Given the description of an element on the screen output the (x, y) to click on. 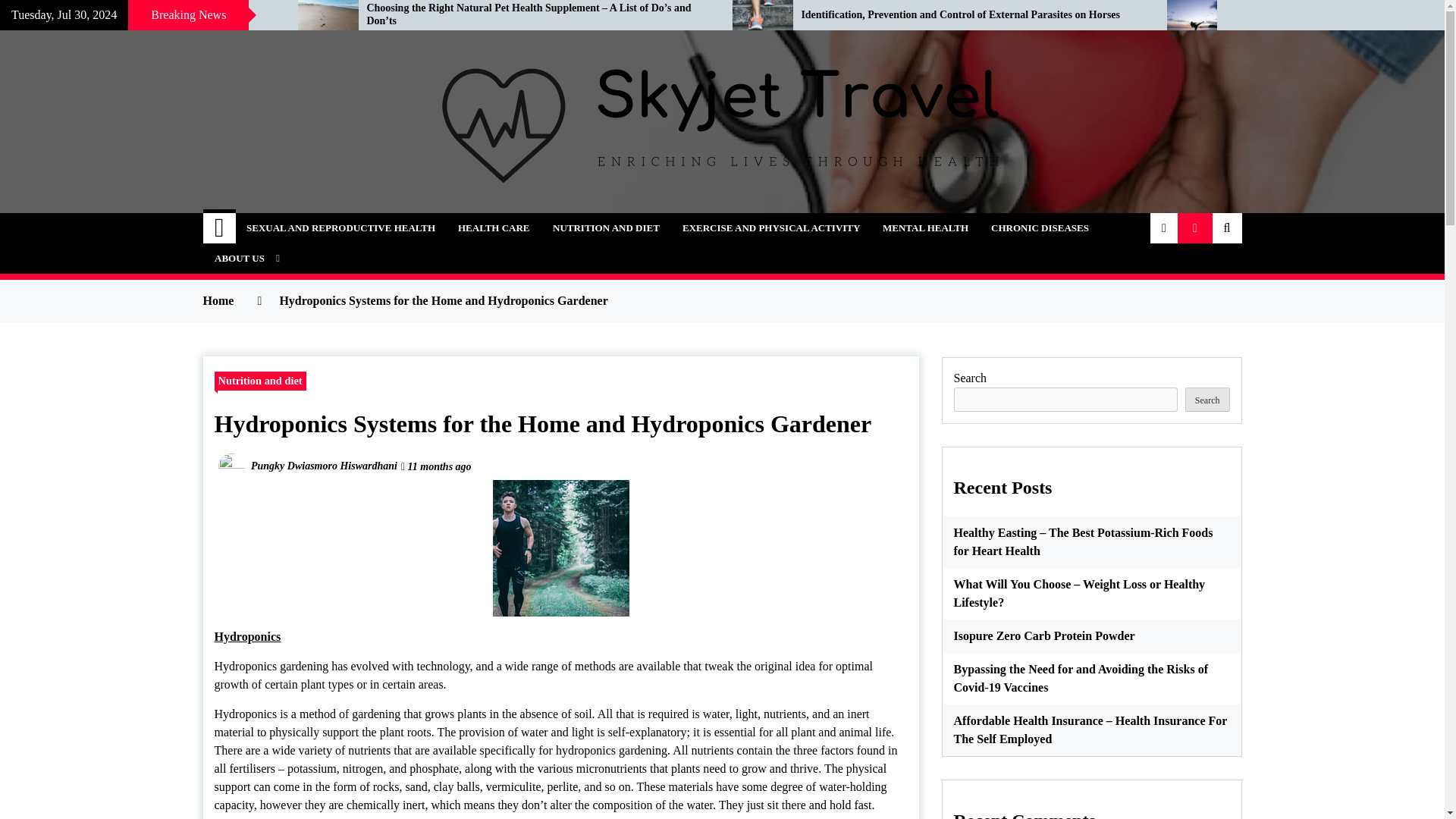
Home (219, 227)
Hydroponics Systems for the Home and Hydroponics Gardener (560, 547)
